Given the description of an element on the screen output the (x, y) to click on. 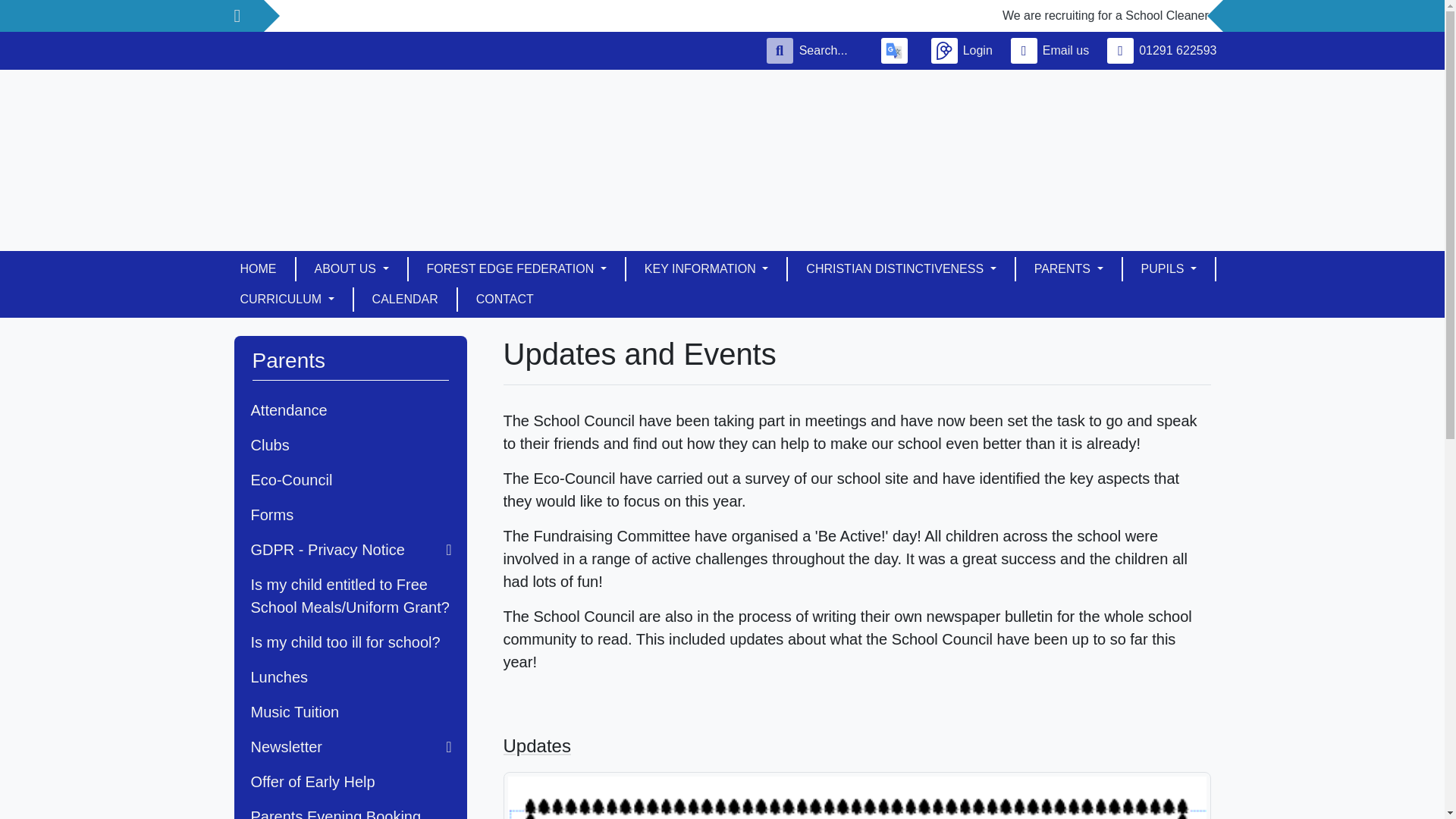
01291 622593 (1164, 50)
Login (964, 50)
Email us (1052, 50)
